Given the description of an element on the screen output the (x, y) to click on. 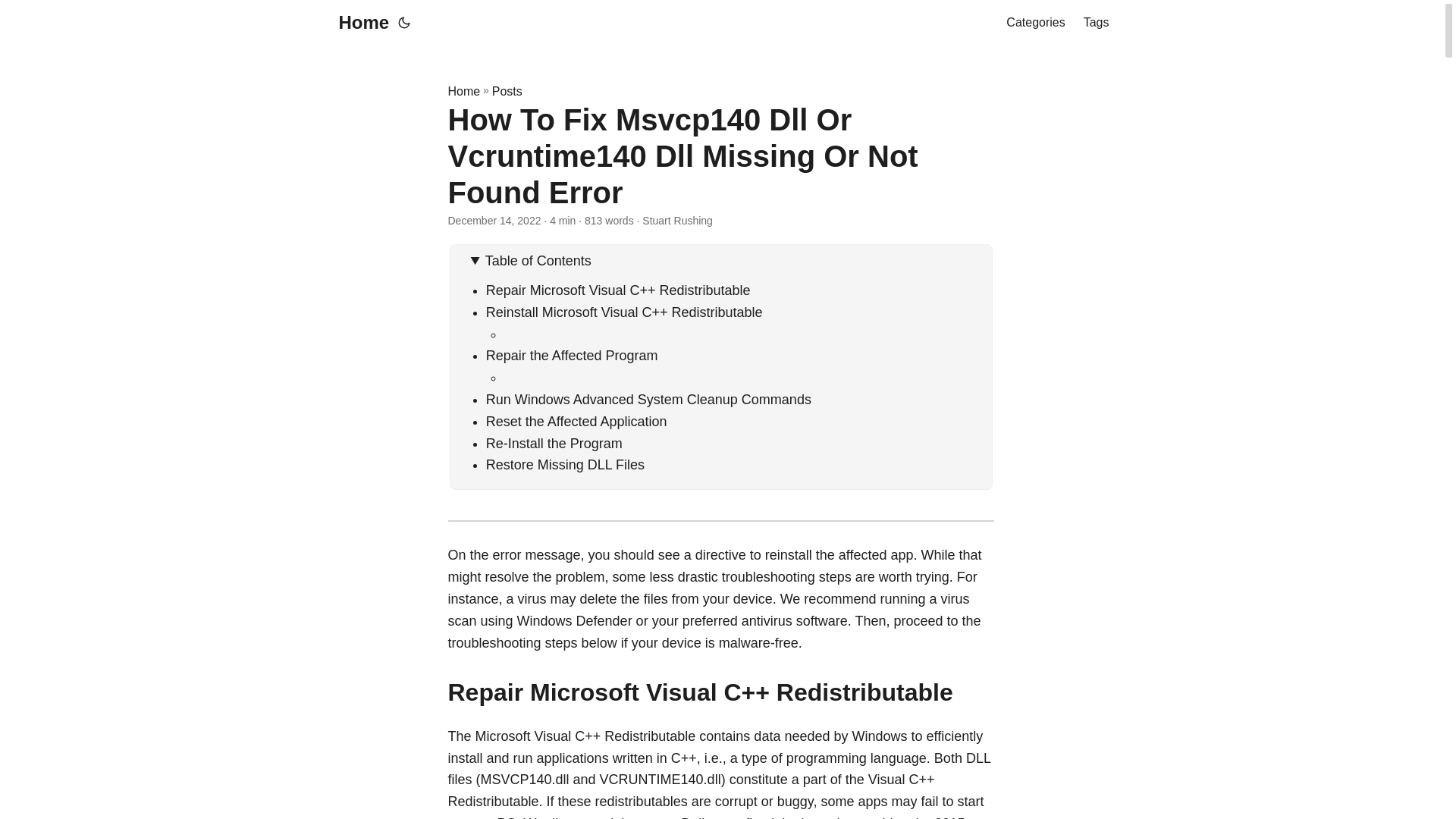
Home (359, 22)
Re-Install the Program (554, 443)
Restore Missing DLL Files (565, 464)
Repair the Affected Program (572, 355)
Posts (507, 91)
Categories (1035, 22)
Categories (1035, 22)
Home (463, 91)
Reset the Affected Application (576, 421)
Run Windows Advanced System Cleanup Commands (648, 399)
